Given the description of an element on the screen output the (x, y) to click on. 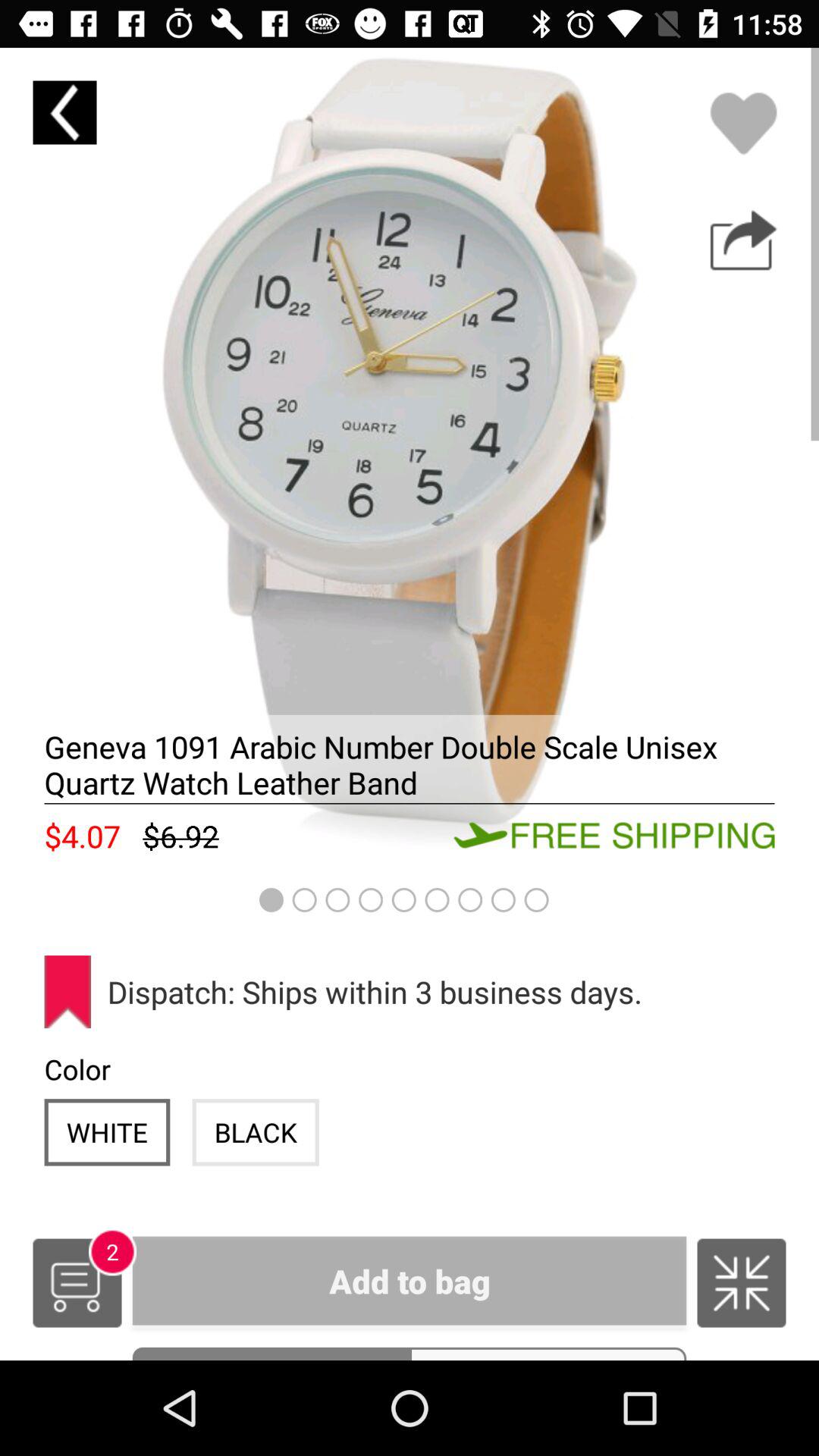
go to next page (743, 240)
